Given the description of an element on the screen output the (x, y) to click on. 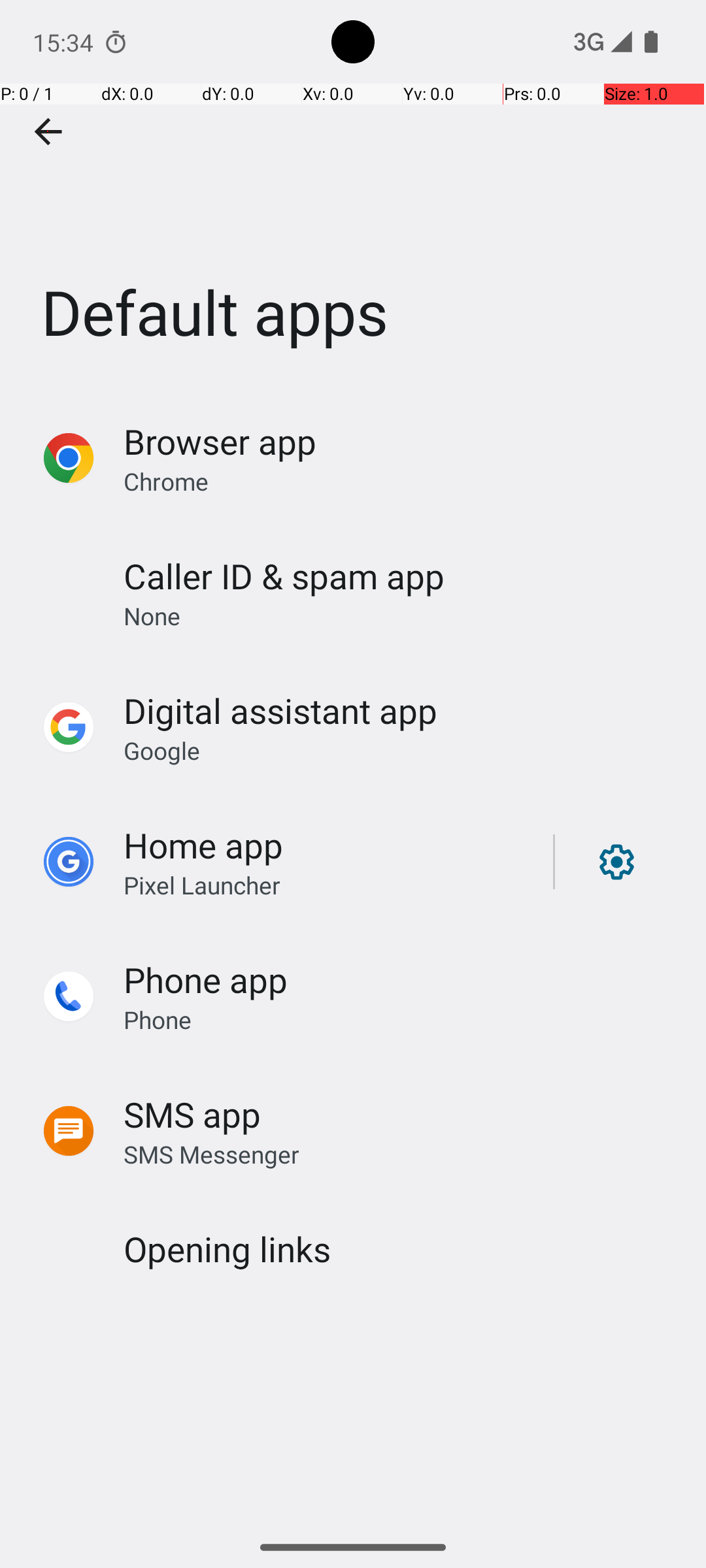
Browser app Element type: android.widget.TextView (220, 441)
Caller ID & spam app Element type: android.widget.TextView (283, 575)
Digital assistant app Element type: android.widget.TextView (280, 710)
Home app Element type: android.widget.TextView (203, 844)
Phone app Element type: android.widget.TextView (205, 979)
SMS app Element type: android.widget.TextView (191, 1114)
Opening links Element type: android.widget.TextView (226, 1248)
